Given the description of an element on the screen output the (x, y) to click on. 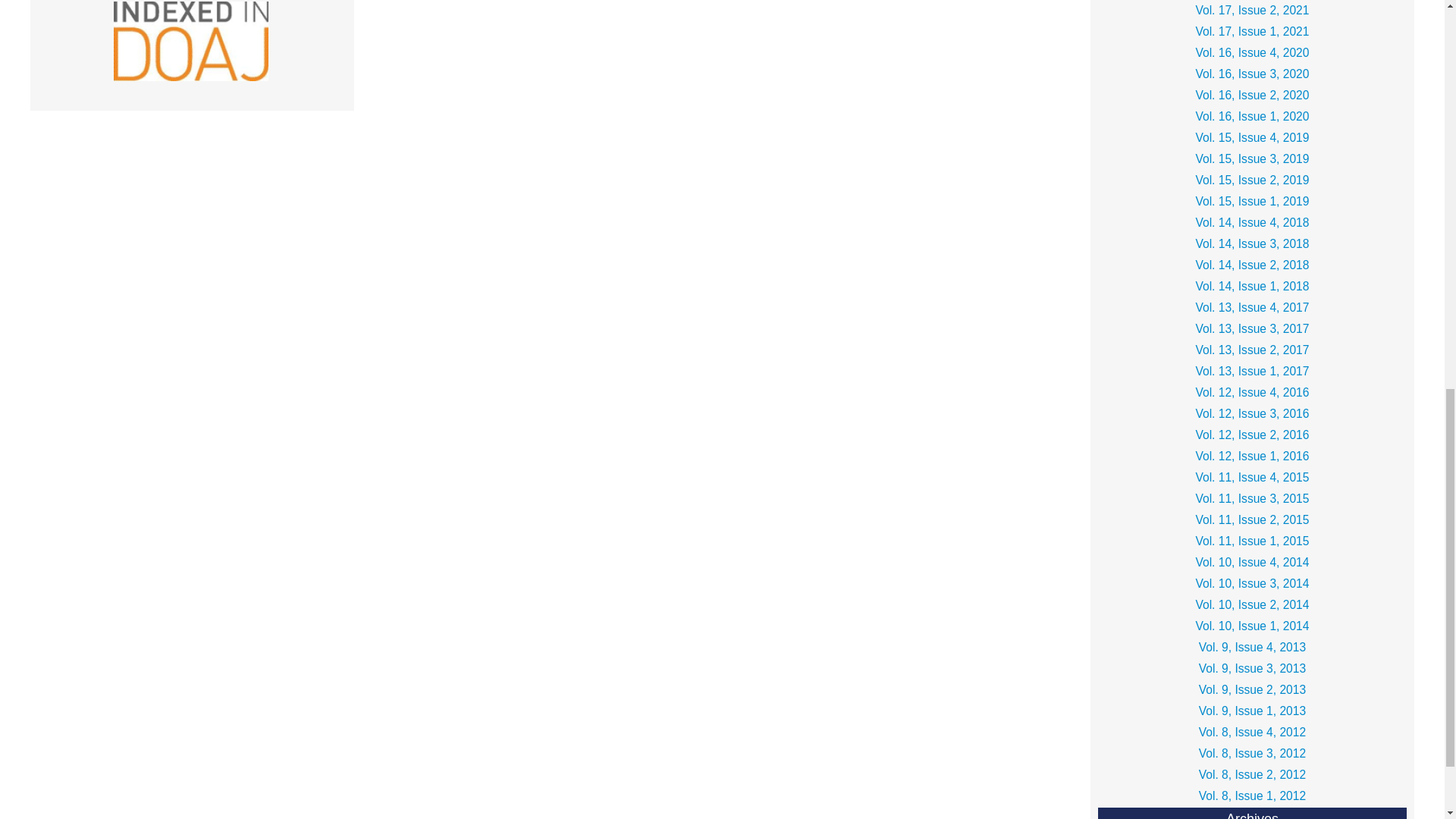
Vol. 15, Issue 1, 2019 (1251, 201)
Vol. 16, Issue 2, 2020 (1251, 95)
Vol. 16, Issue 3, 2020 (1251, 74)
Vol. 14, Issue 3, 2018 (1251, 243)
Vol. 15, Issue 3, 2019 (1251, 158)
Vol. 15, Issue 2, 2019 (1251, 180)
Vol. 17, Issue 1, 2021 (1251, 31)
Vol. 15, Issue 4, 2019 (1251, 137)
Vol. 16, Issue 1, 2020 (1251, 116)
Vol. 14, Issue 4, 2018 (1251, 222)
